Given the description of an element on the screen output the (x, y) to click on. 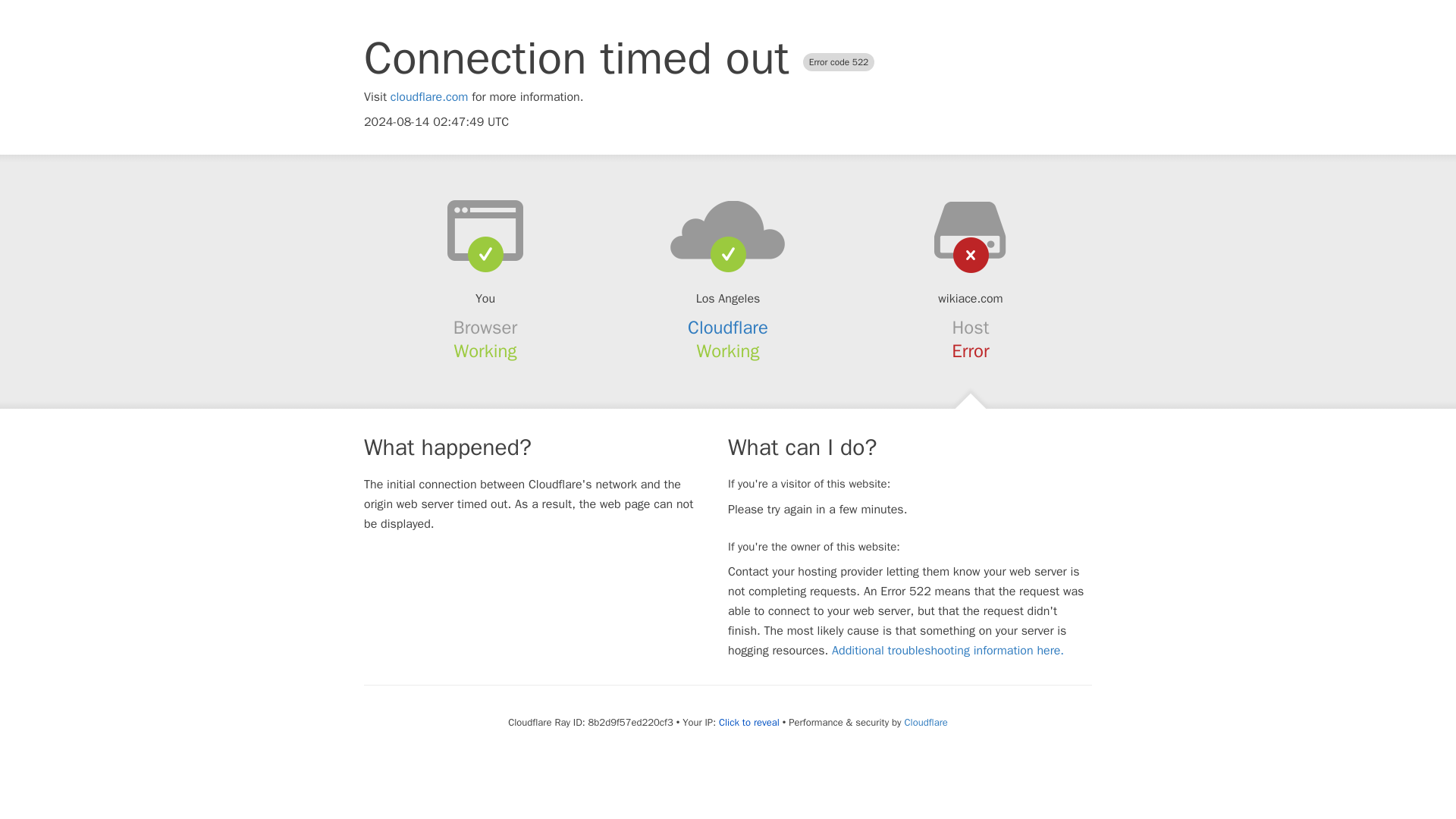
Cloudflare (727, 327)
Click to reveal (748, 722)
Cloudflare (925, 721)
cloudflare.com (429, 96)
Additional troubleshooting information here. (947, 650)
